Given the description of an element on the screen output the (x, y) to click on. 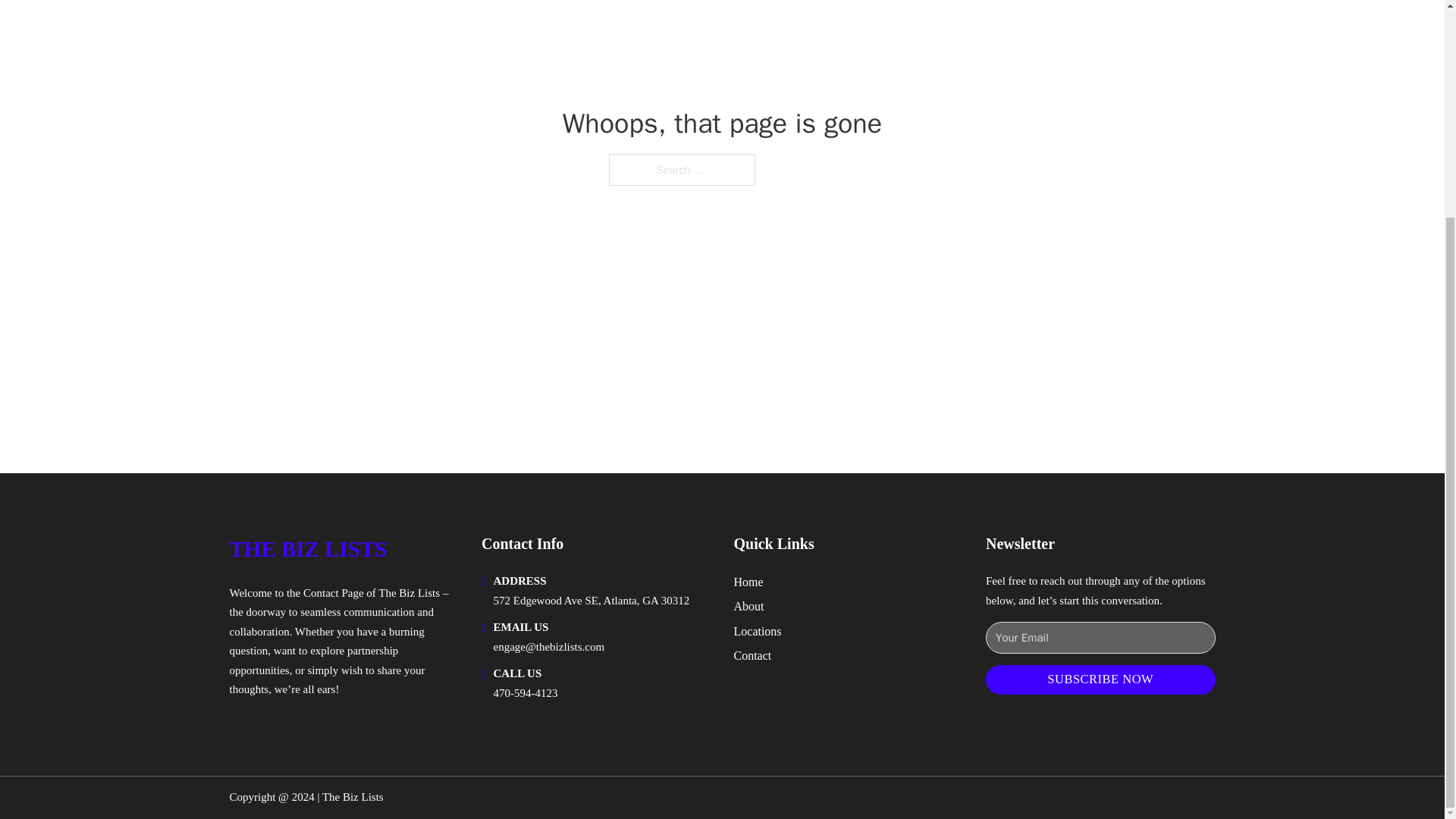
About (748, 606)
Locations (757, 630)
470-594-4123 (525, 693)
Home (747, 581)
THE BIZ LISTS (307, 549)
Contact (752, 655)
SUBSCRIBE NOW (1100, 679)
